Given the description of an element on the screen output the (x, y) to click on. 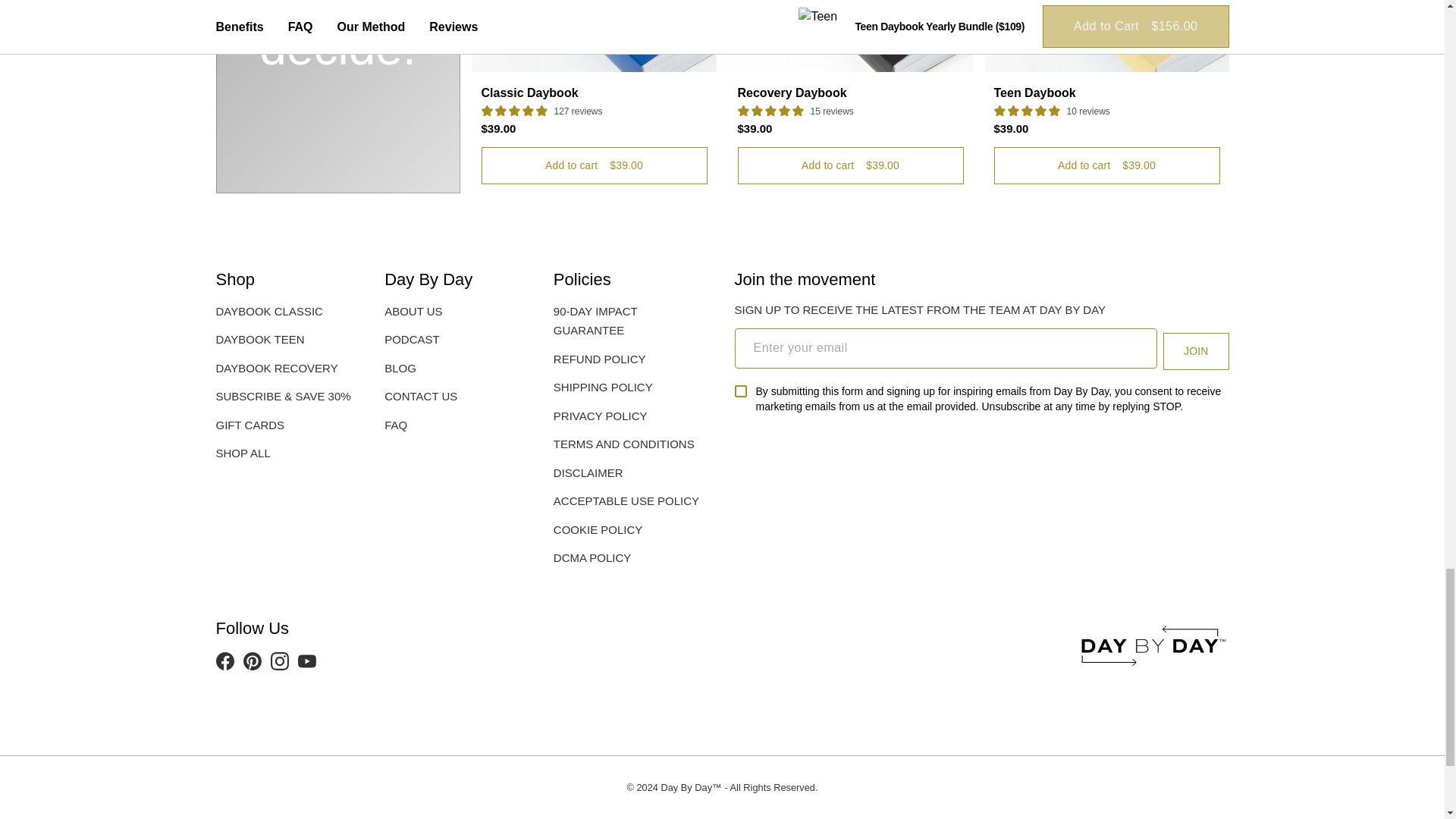
footer-checkbox (739, 390)
